Given the description of an element on the screen output the (x, y) to click on. 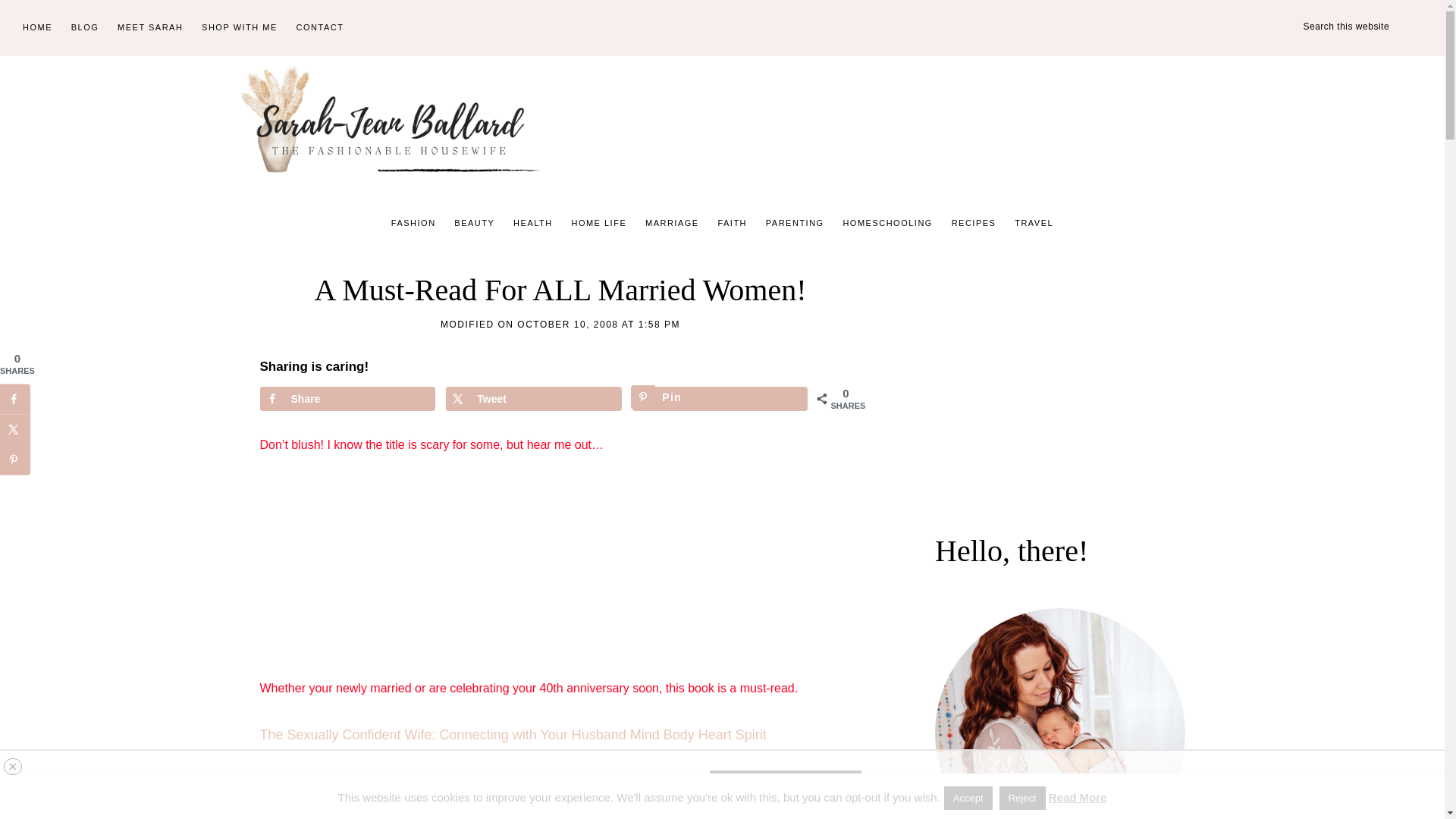
MEET SARAH (150, 27)
BEAUTY (474, 223)
HOME (36, 27)
Share on Facebook (346, 398)
SHOP WITH ME (239, 27)
FASHION (414, 223)
Save to Pinterest (719, 398)
Share on X (533, 398)
CONTACT (320, 27)
